Given the description of an element on the screen output the (x, y) to click on. 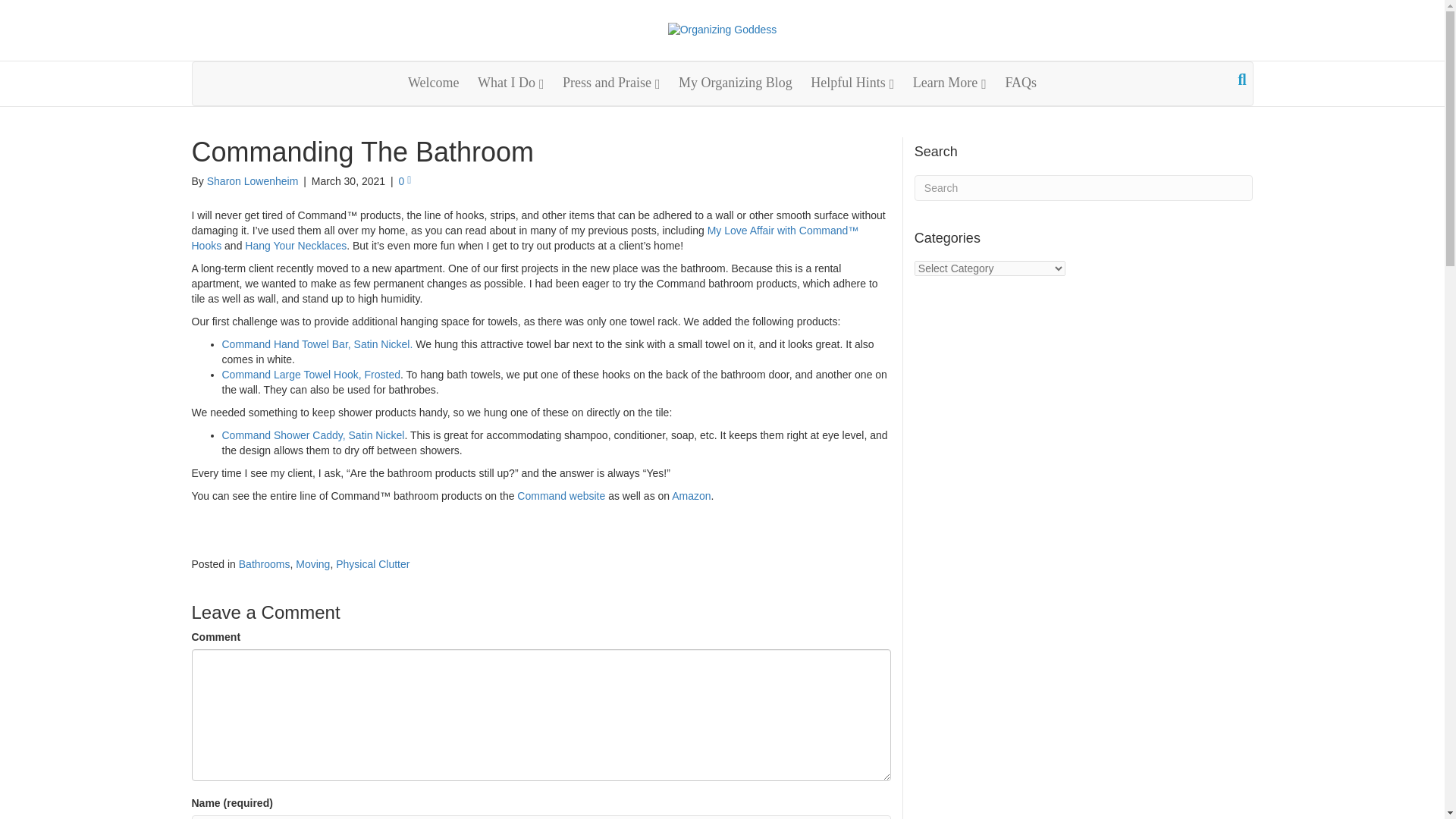
Bathrooms (263, 563)
FAQs (1020, 83)
Welcome (433, 83)
Learn More (949, 83)
What I Do (510, 83)
My Organizing Blog (735, 83)
Helpful Hints (852, 83)
Command Shower Caddy, Satin Nickel (312, 435)
Hang Your Necklaces (295, 245)
Type and press Enter to search. (1083, 187)
Physical Clutter (372, 563)
Amazon (690, 495)
Press and Praise (611, 83)
Command website (560, 495)
Command Large Towel Hook, Frosted (310, 374)
